Given the description of an element on the screen output the (x, y) to click on. 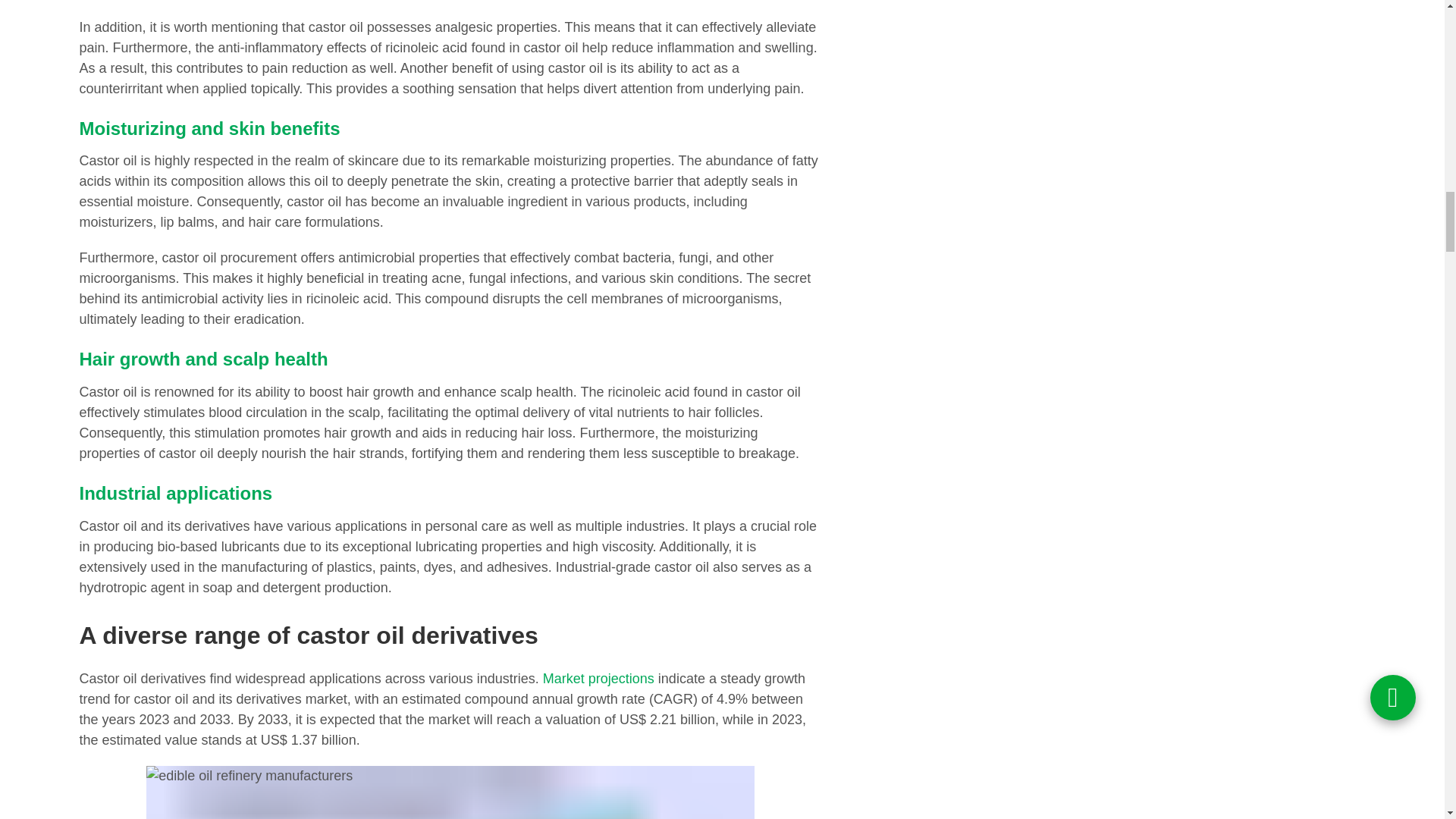
Market projections (598, 678)
